Given the description of an element on the screen output the (x, y) to click on. 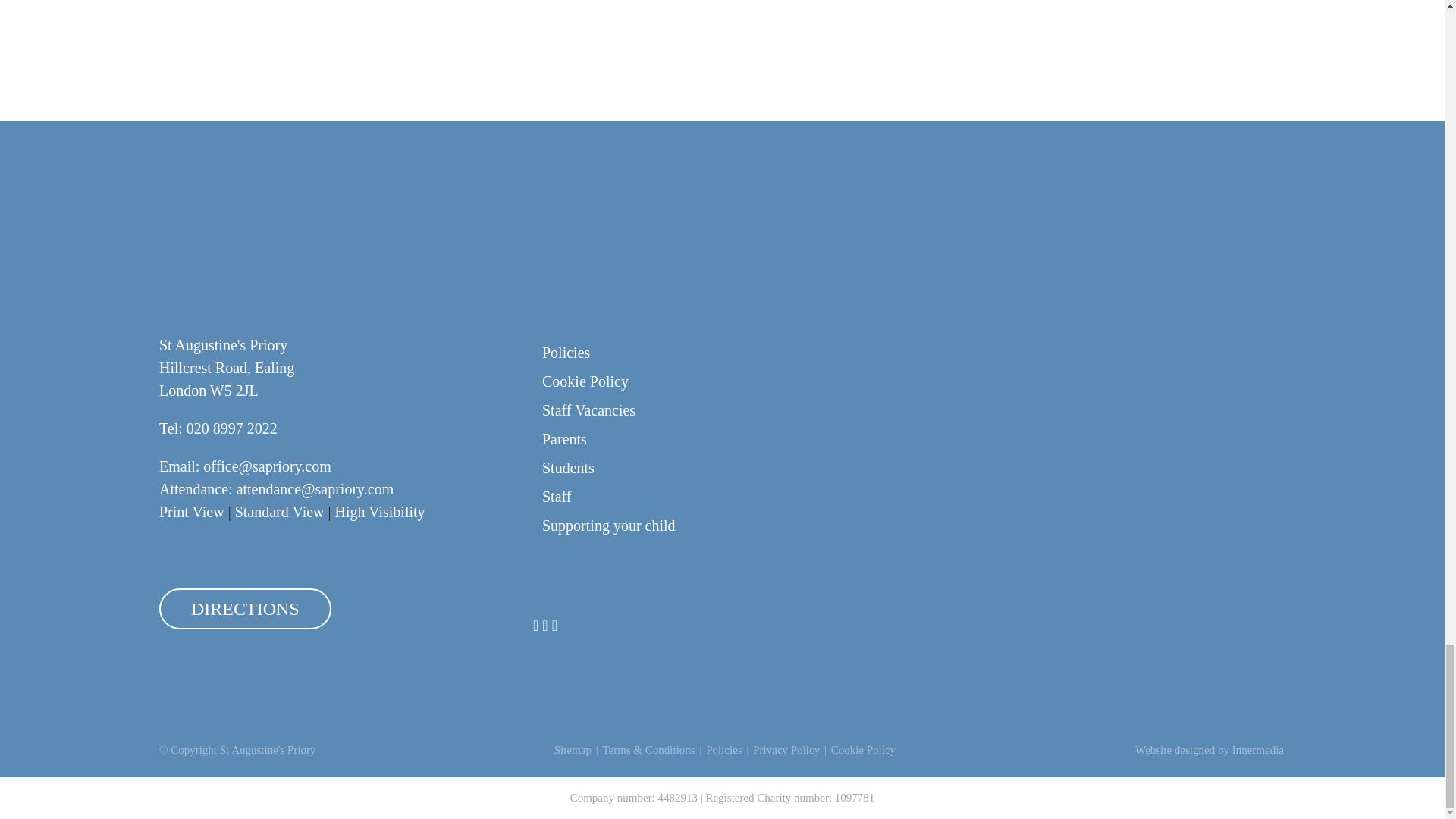
Switch to Print (191, 511)
Switch to Standard Visibility (279, 511)
Switch to High Visibility (379, 511)
